Given the description of an element on the screen output the (x, y) to click on. 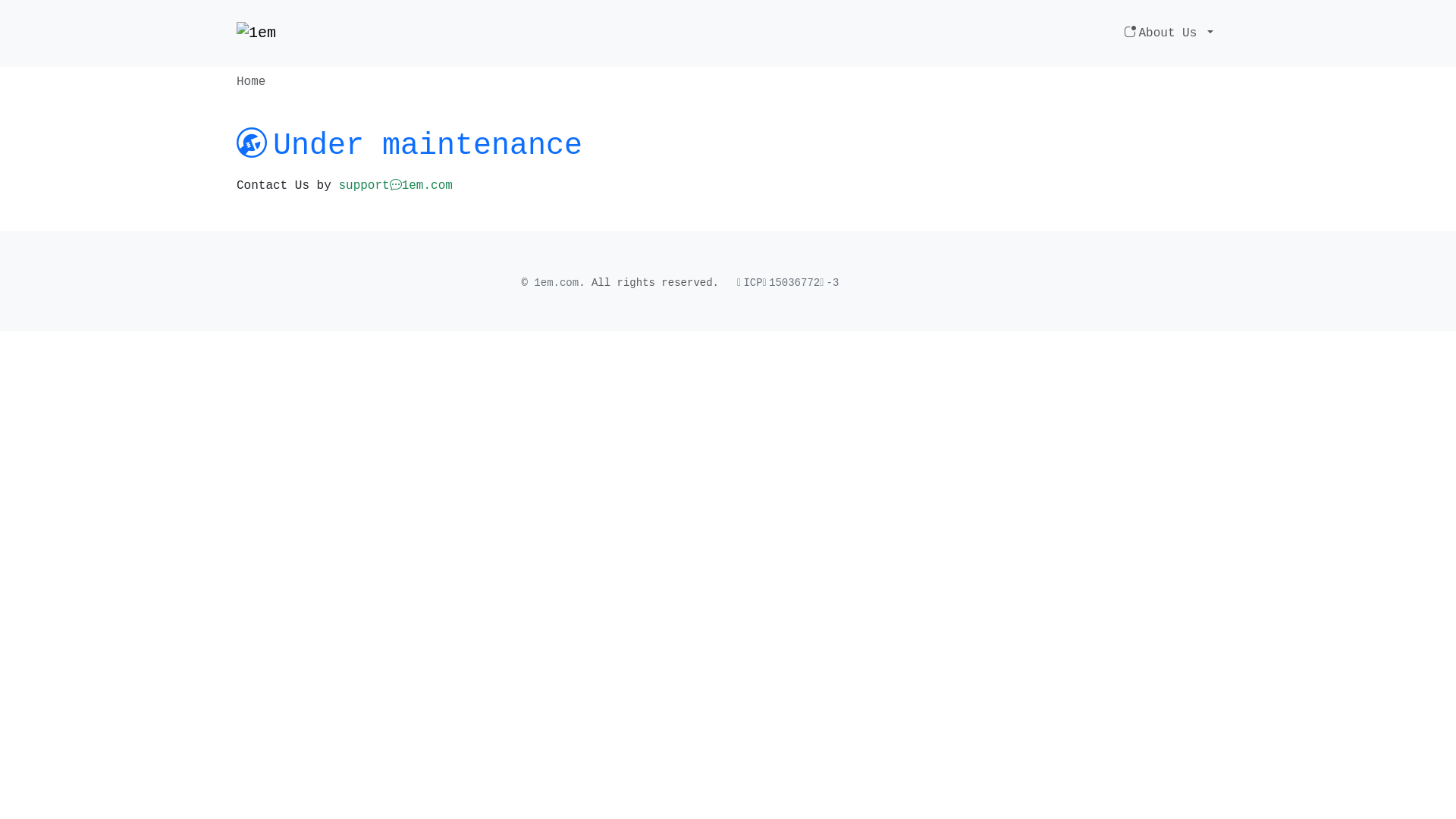
About Us Element type: text (1168, 33)
1em.com Element type: text (555, 282)
